Given the description of an element on the screen output the (x, y) to click on. 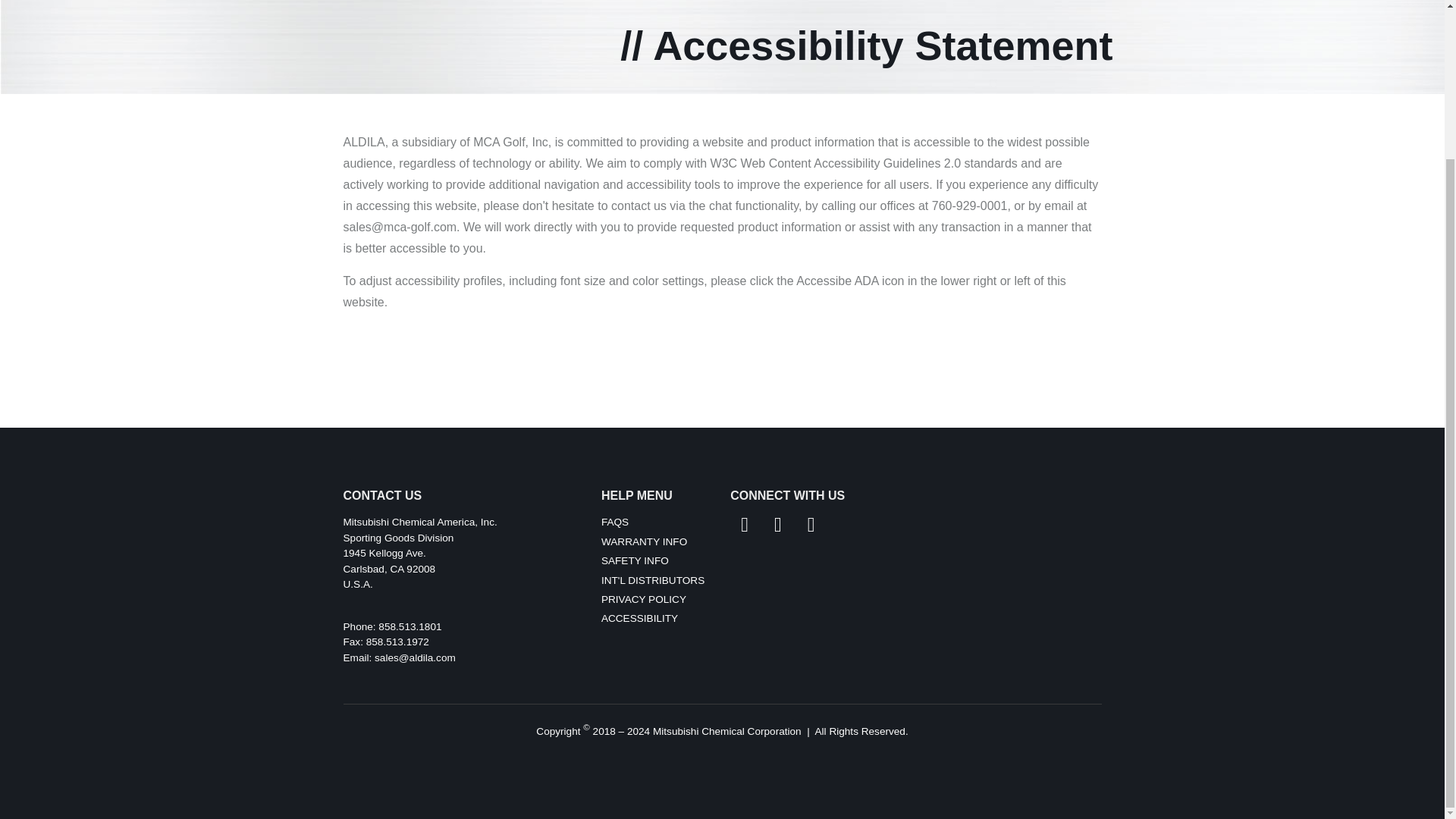
FAQS (388, 568)
SAFETY INFO (614, 521)
WARRANTY INFO (634, 560)
